Given the description of an element on the screen output the (x, y) to click on. 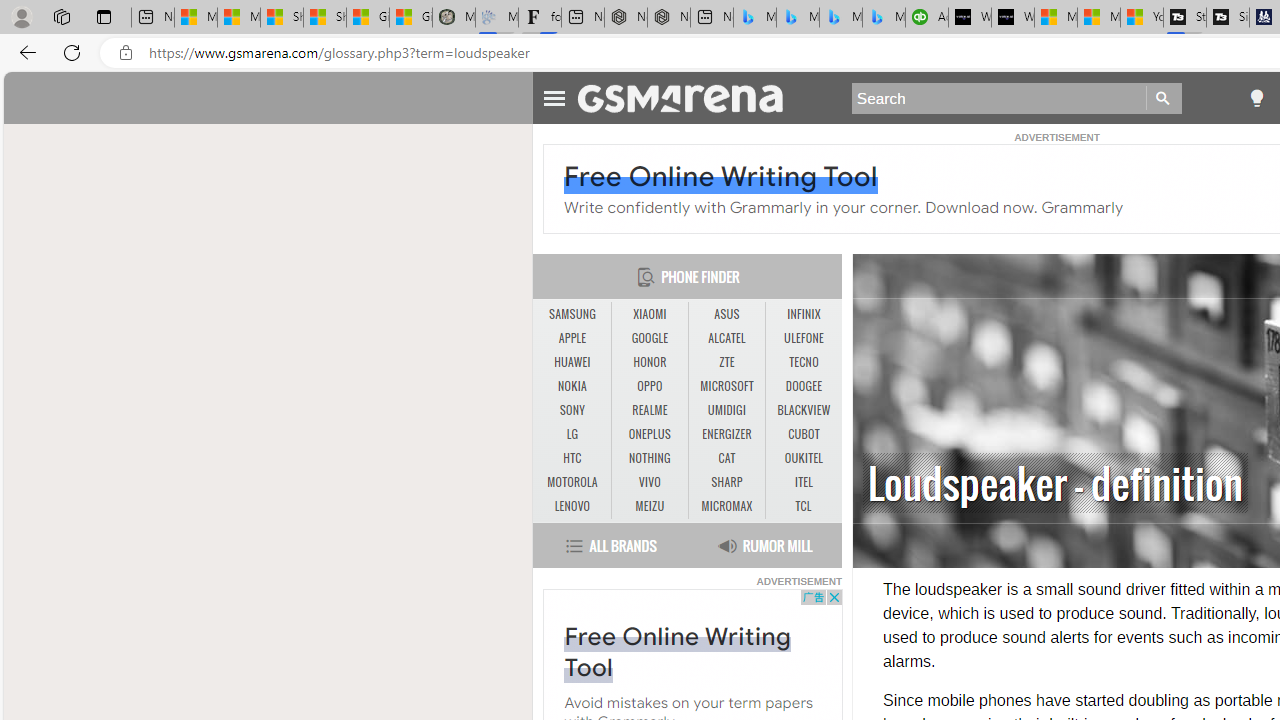
CUBOT (803, 434)
HONOR (649, 362)
MICROMAX (726, 506)
HUAWEI (571, 362)
BLACKVIEW (803, 411)
ALCATEL (726, 338)
XIAOMI (649, 314)
MOTOROLA (571, 483)
GOOGLE (649, 339)
